Given the description of an element on the screen output the (x, y) to click on. 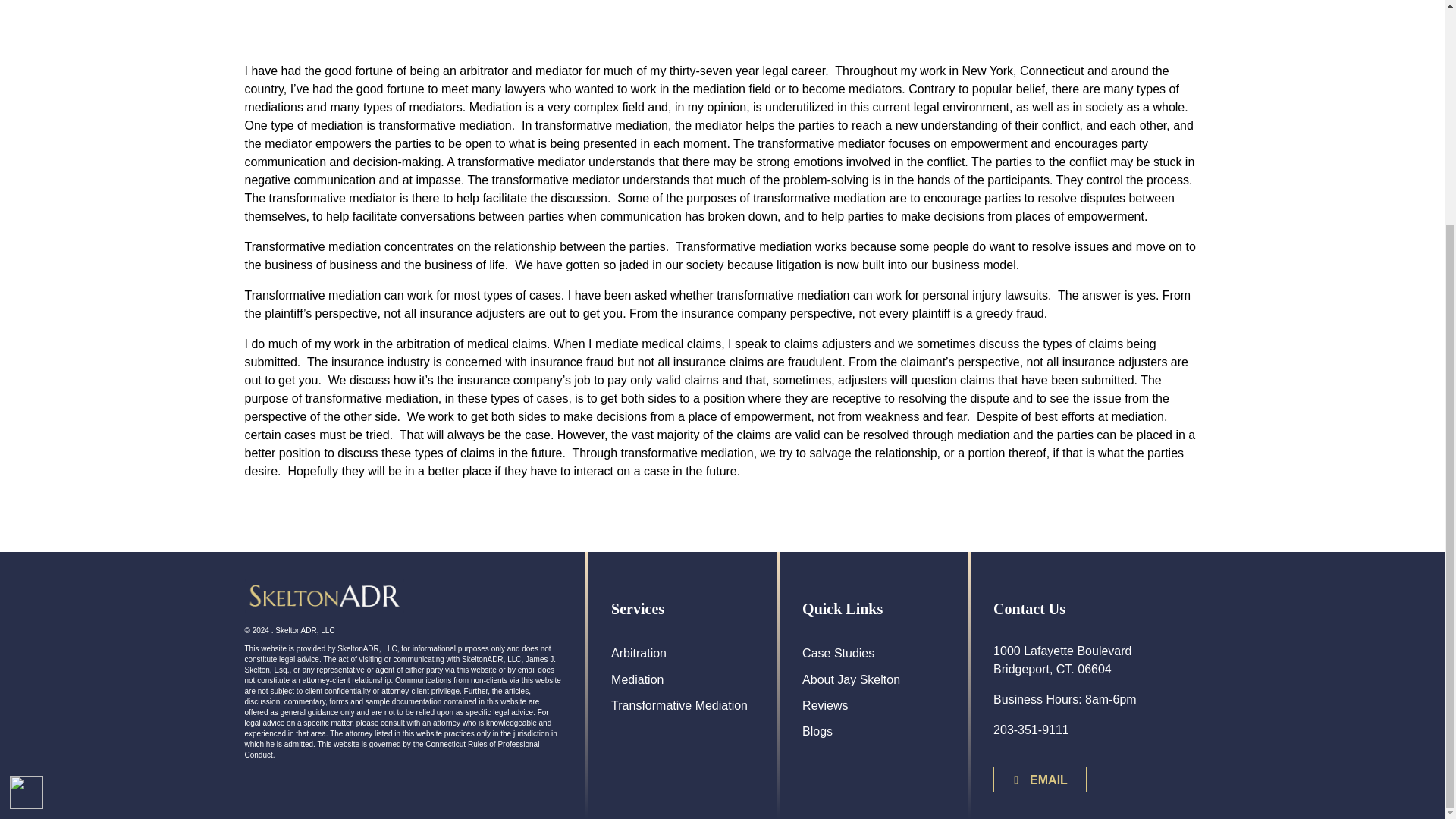
Case Studies (874, 656)
Arbitration (684, 656)
Blogs (874, 734)
footer-logo (323, 595)
Mediation (684, 682)
About Jay Skelton (874, 682)
Transformative Mediation (684, 708)
Reviews (874, 708)
